Given the description of an element on the screen output the (x, y) to click on. 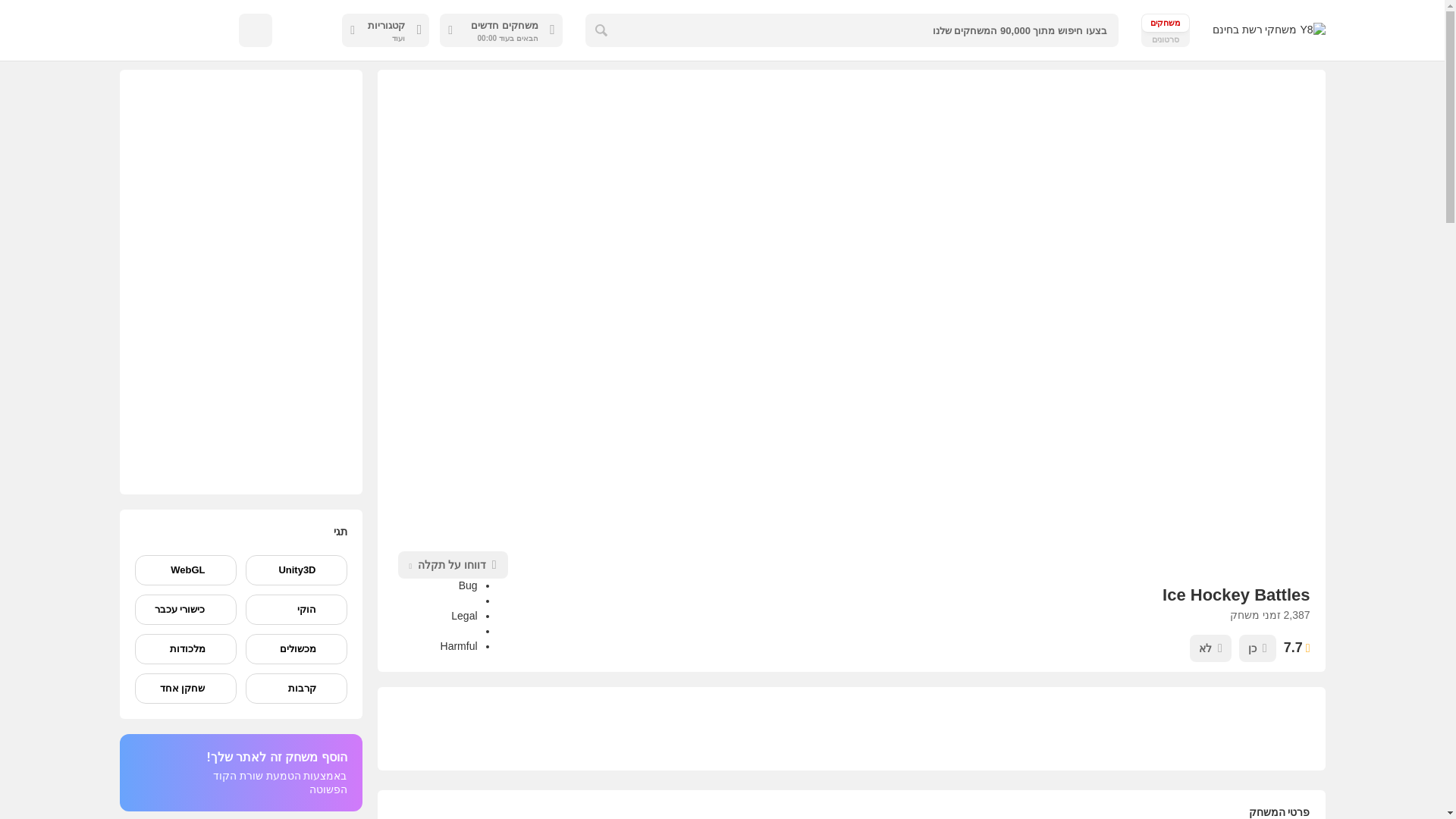
WebGL (185, 570)
Unity3D (296, 570)
